Given the description of an element on the screen output the (x, y) to click on. 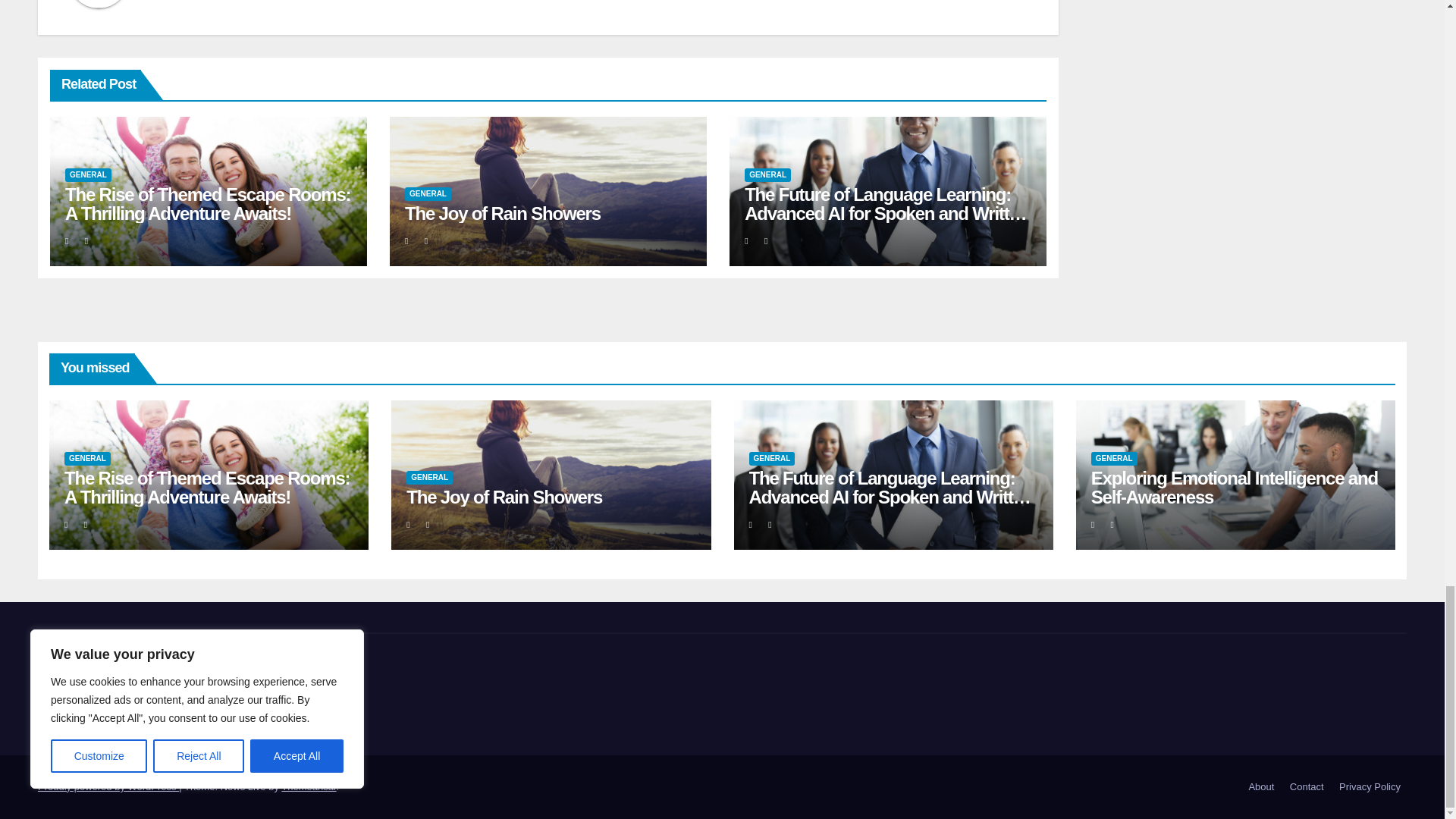
Permalink to: The Joy of Rain Showers (504, 496)
Permalink to: The Joy of Rain Showers (501, 213)
Contact (1307, 786)
Privacy Policy (1369, 786)
About (1260, 786)
